Given the description of an element on the screen output the (x, y) to click on. 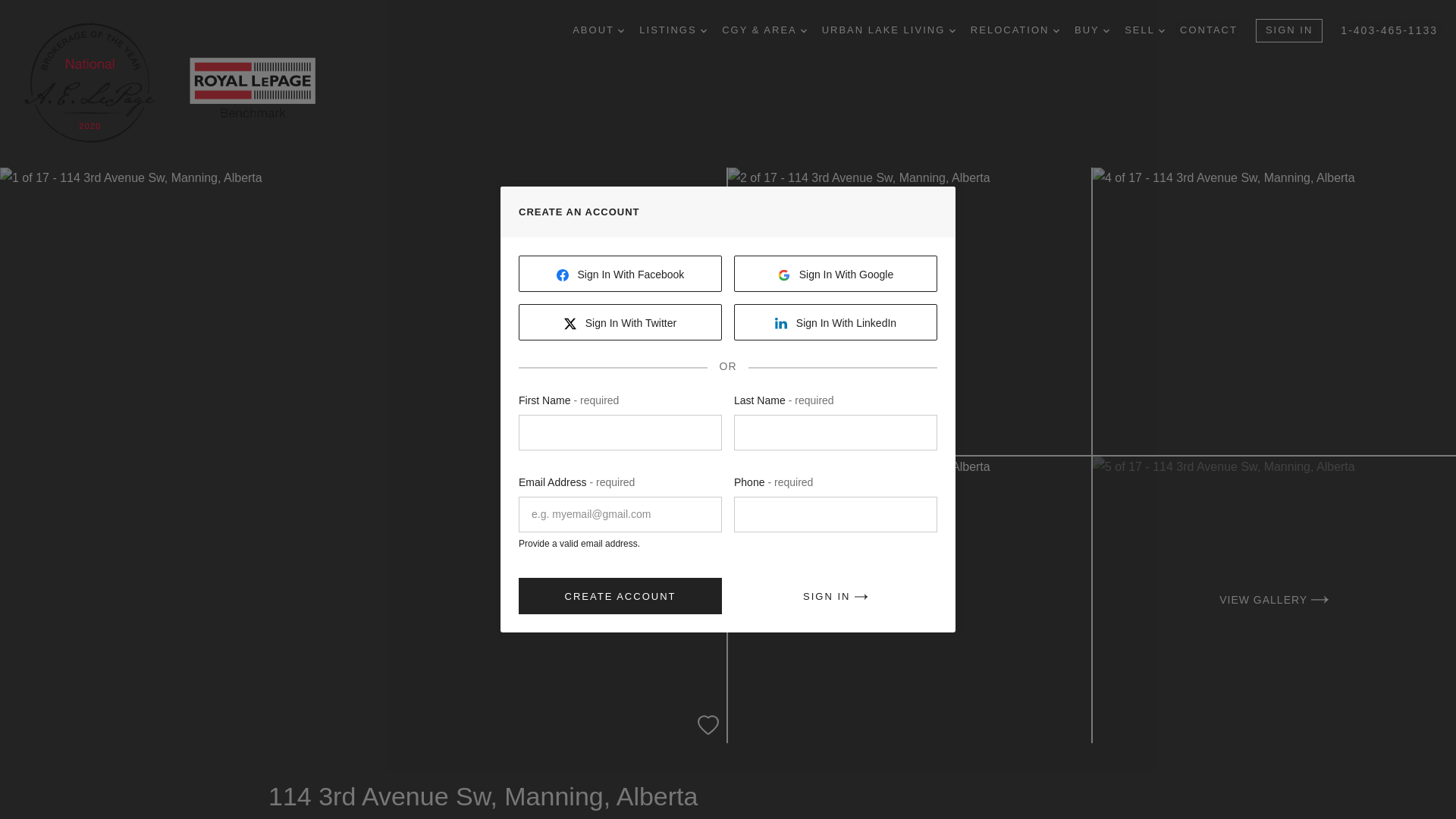
ABOUT DROPDOWN ARROW (598, 30)
LISTINGS DROPDOWN ARROW (672, 30)
DROPDOWN ARROW (620, 30)
URBAN LAKE LIVING DROPDOWN ARROW (888, 30)
DROPDOWN ARROW (1161, 30)
DROPDOWN ARROW (703, 30)
DROPDOWN ARROW (1055, 30)
DROPDOWN ARROW (952, 30)
DROPDOWN ARROW (803, 30)
DROPDOWN ARROW (1106, 30)
